Given the description of an element on the screen output the (x, y) to click on. 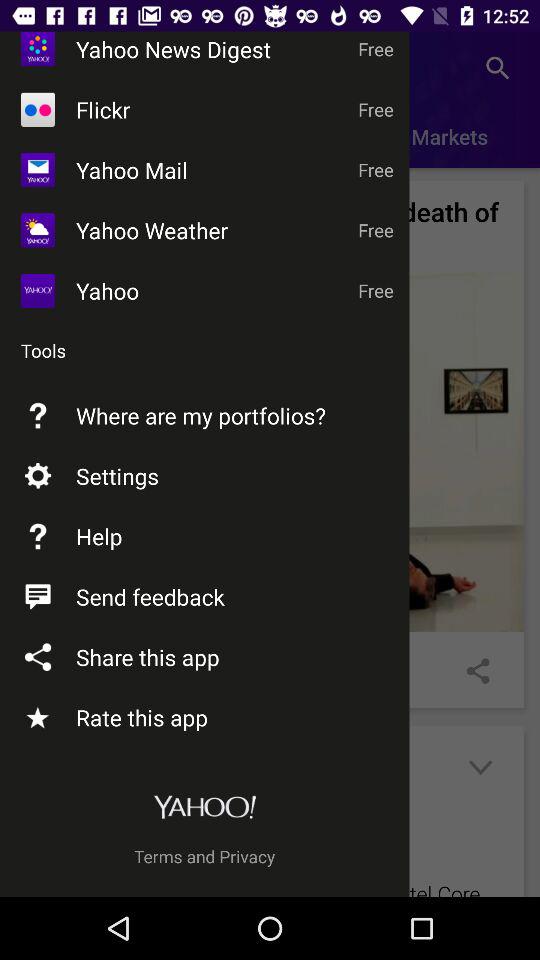
click on yahoo news digest (168, 67)
select rate this app icon (38, 717)
click on first option under tools (270, 451)
